Given the description of an element on the screen output the (x, y) to click on. 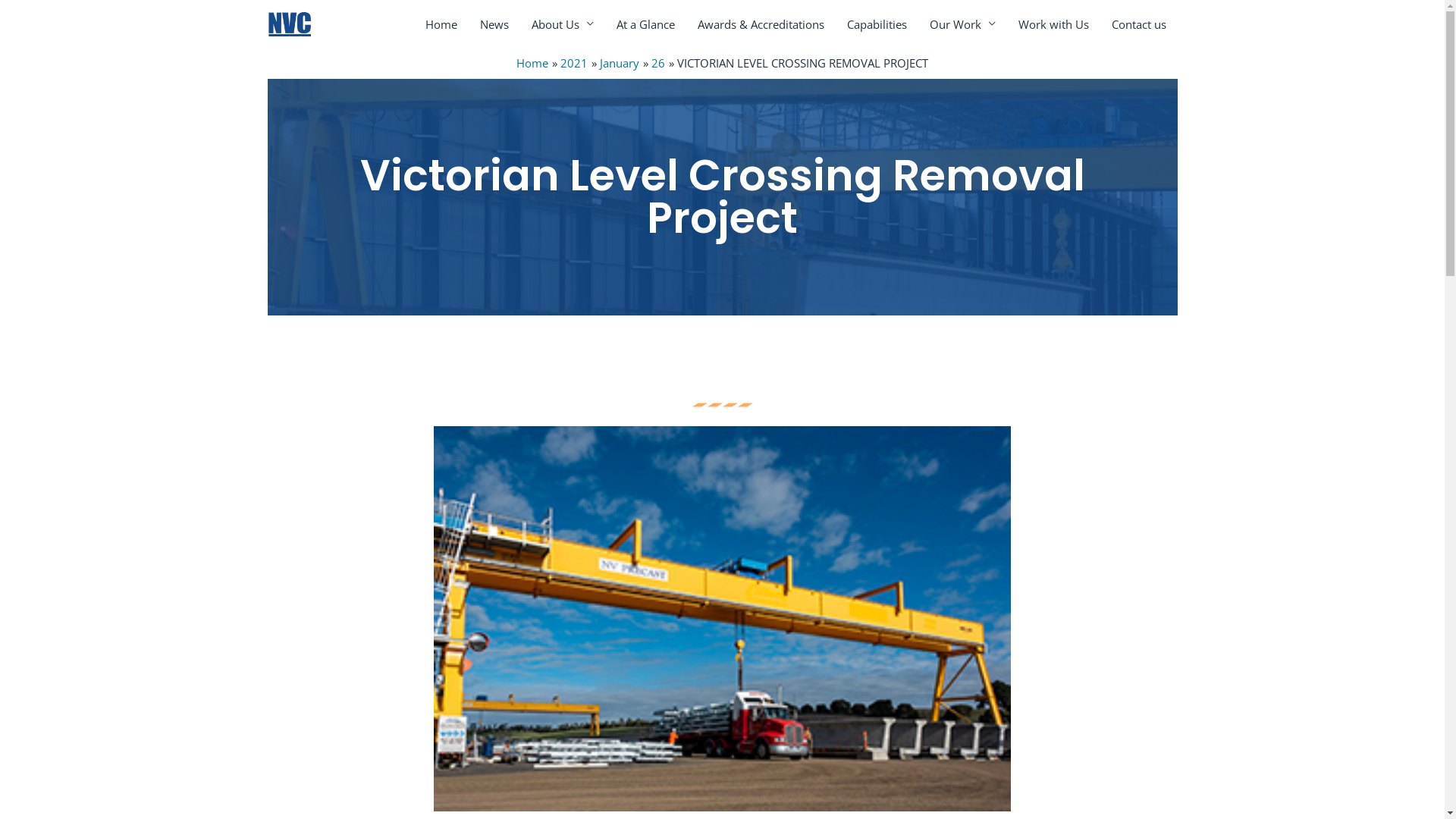
January Element type: text (619, 62)
Home Element type: text (532, 62)
Work with Us Element type: text (1053, 23)
About Us Element type: text (562, 23)
26 Element type: text (658, 62)
2021 Element type: text (573, 62)
Home Element type: text (441, 23)
At a Glance Element type: text (645, 23)
Contact us Element type: text (1137, 23)
Our Work Element type: text (961, 23)
News Element type: text (494, 23)
Awards & Accreditations Element type: text (759, 23)
Capabilities Element type: text (876, 23)
